Given the description of an element on the screen output the (x, y) to click on. 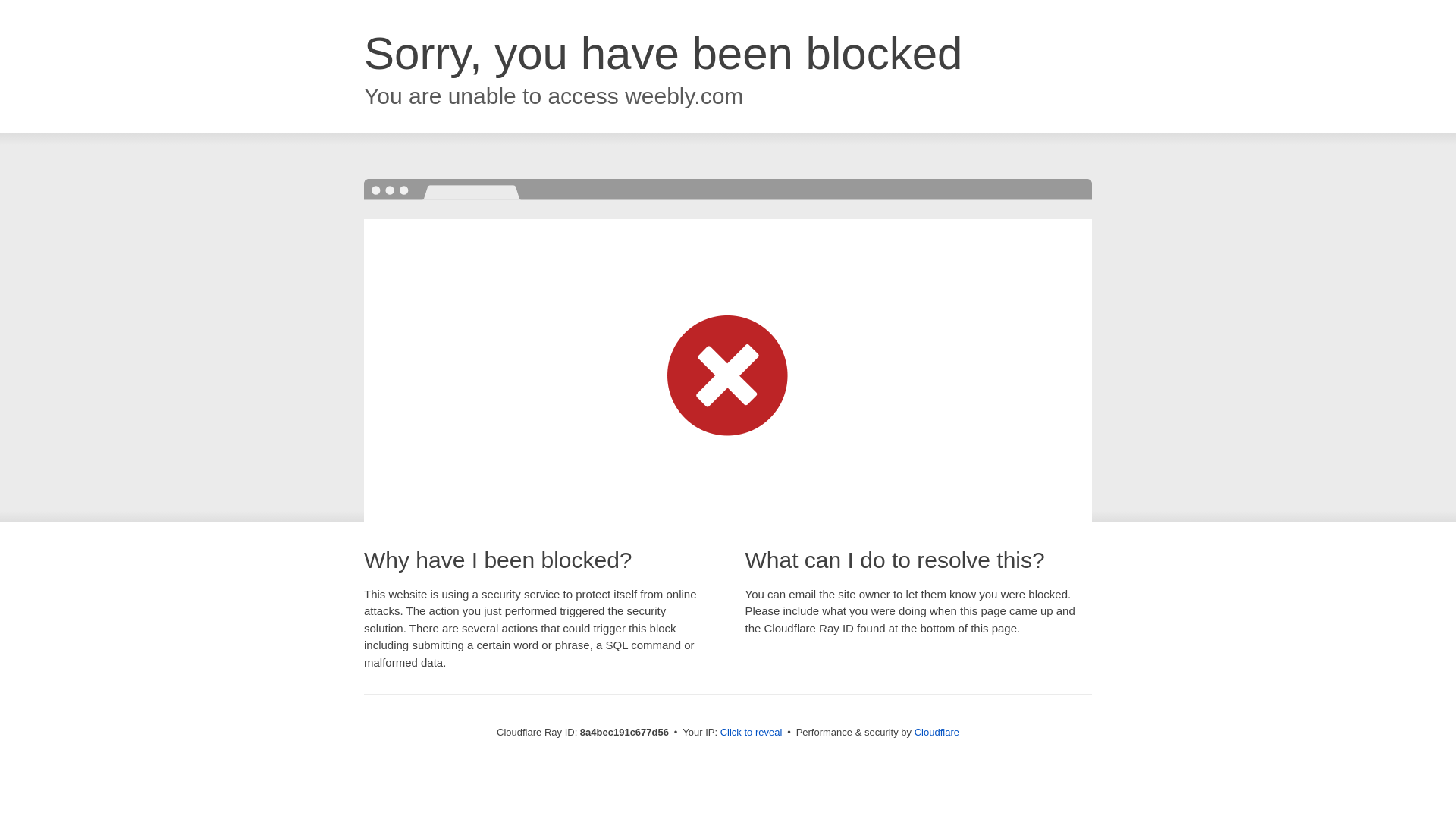
Cloudflare (936, 731)
Click to reveal (751, 732)
